Given the description of an element on the screen output the (x, y) to click on. 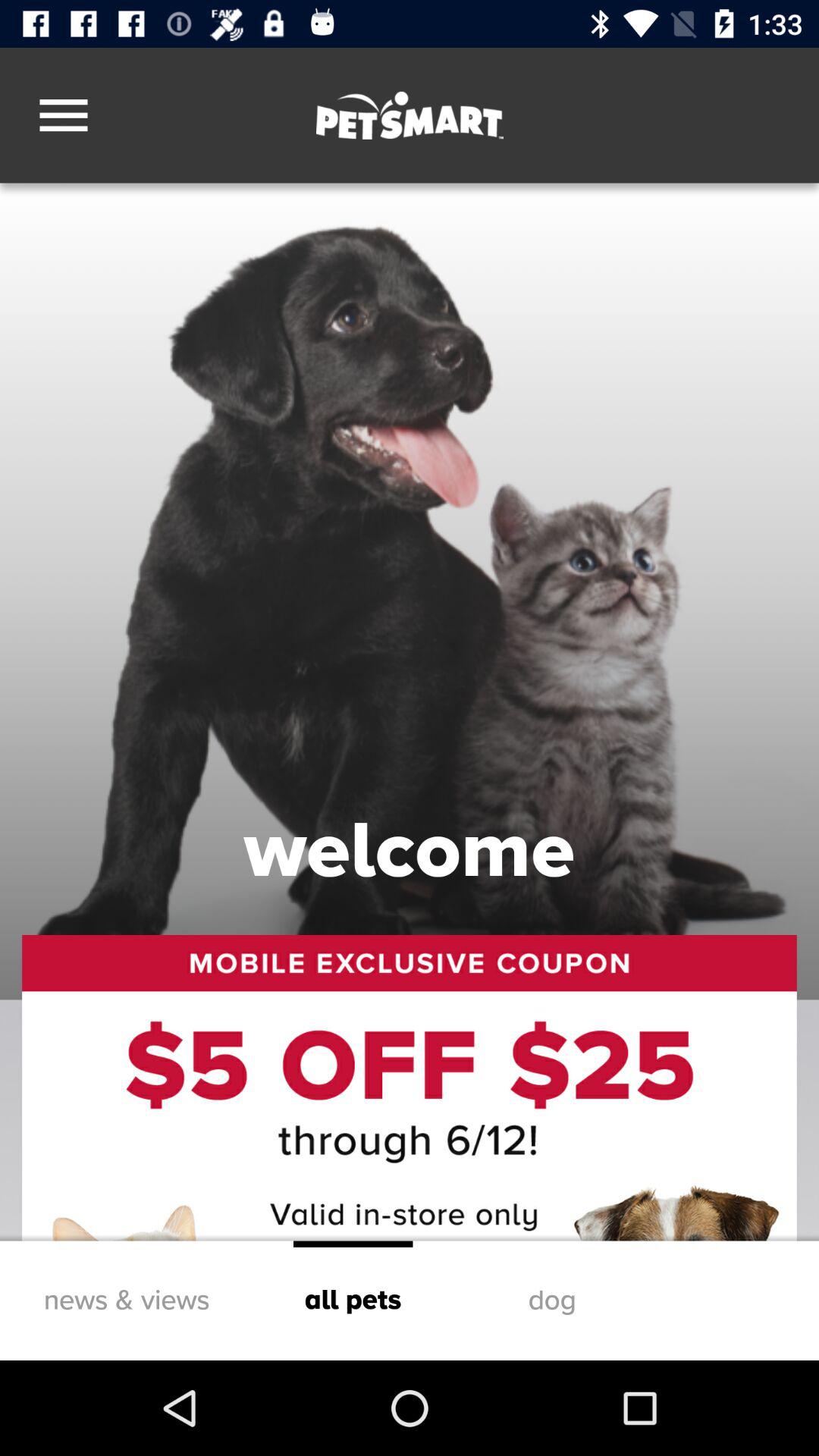
press the item at the bottom right corner (552, 1300)
